Given the description of an element on the screen output the (x, y) to click on. 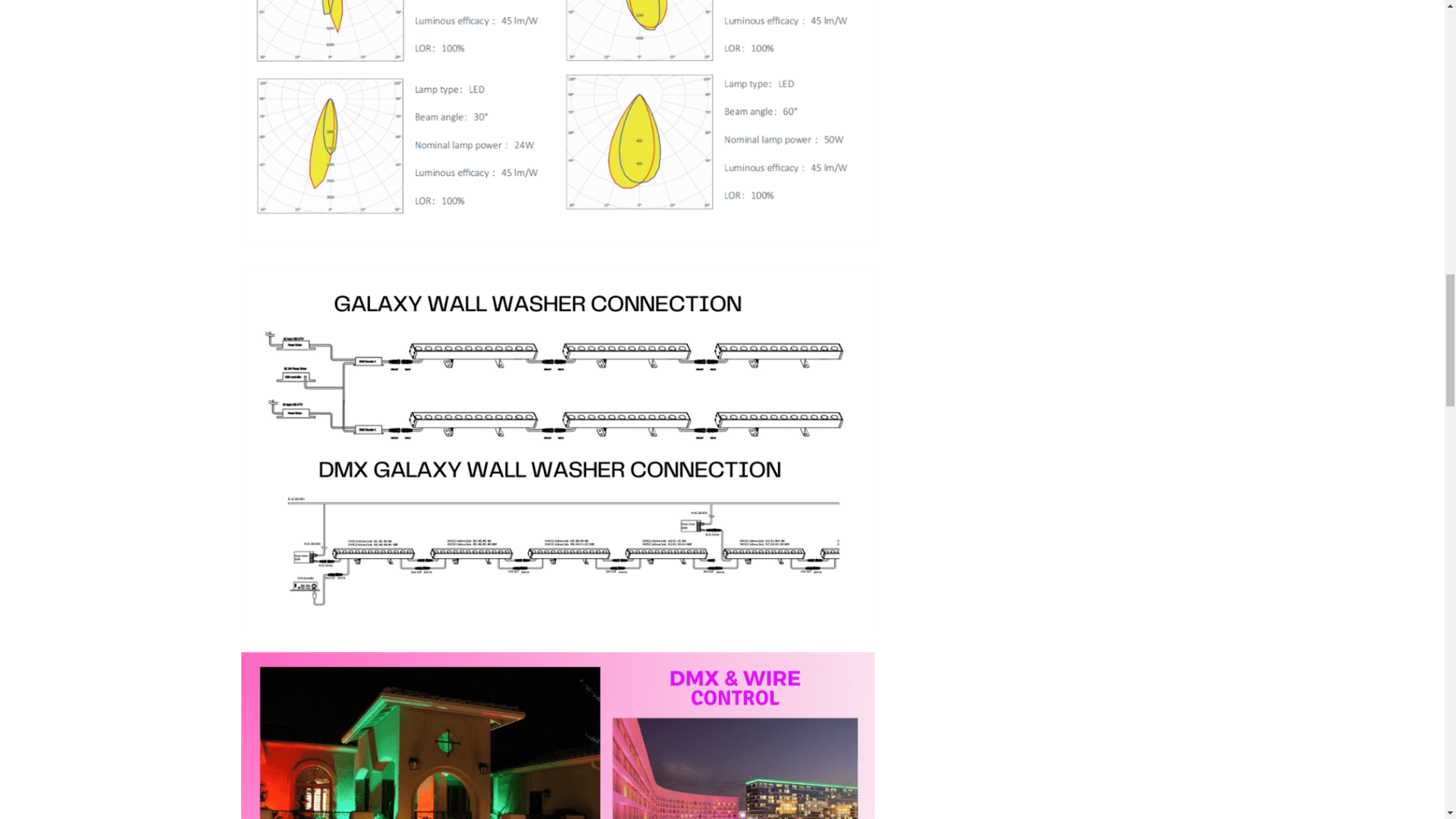
1684481164482598.png (558, 735)
